Given the description of an element on the screen output the (x, y) to click on. 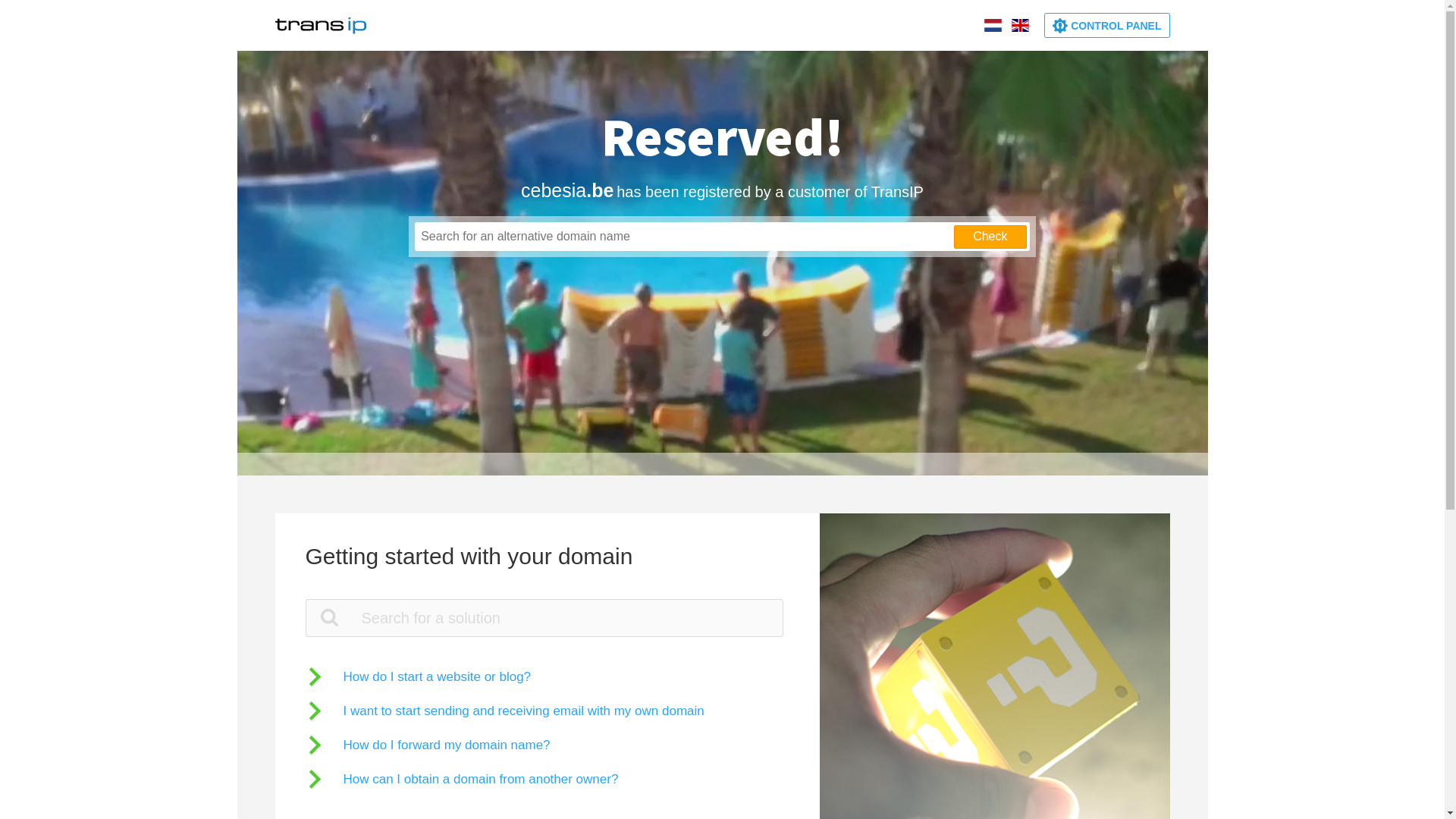
How do I forward my domain name? Element type: text (426, 743)
How can I obtain a domain from another owner? Element type: text (461, 777)
Check Element type: text (989, 236)
How do I start a website or blog? Element type: text (417, 675)
CONTROL PANEL Element type: text (1106, 24)
